Given the description of an element on the screen output the (x, y) to click on. 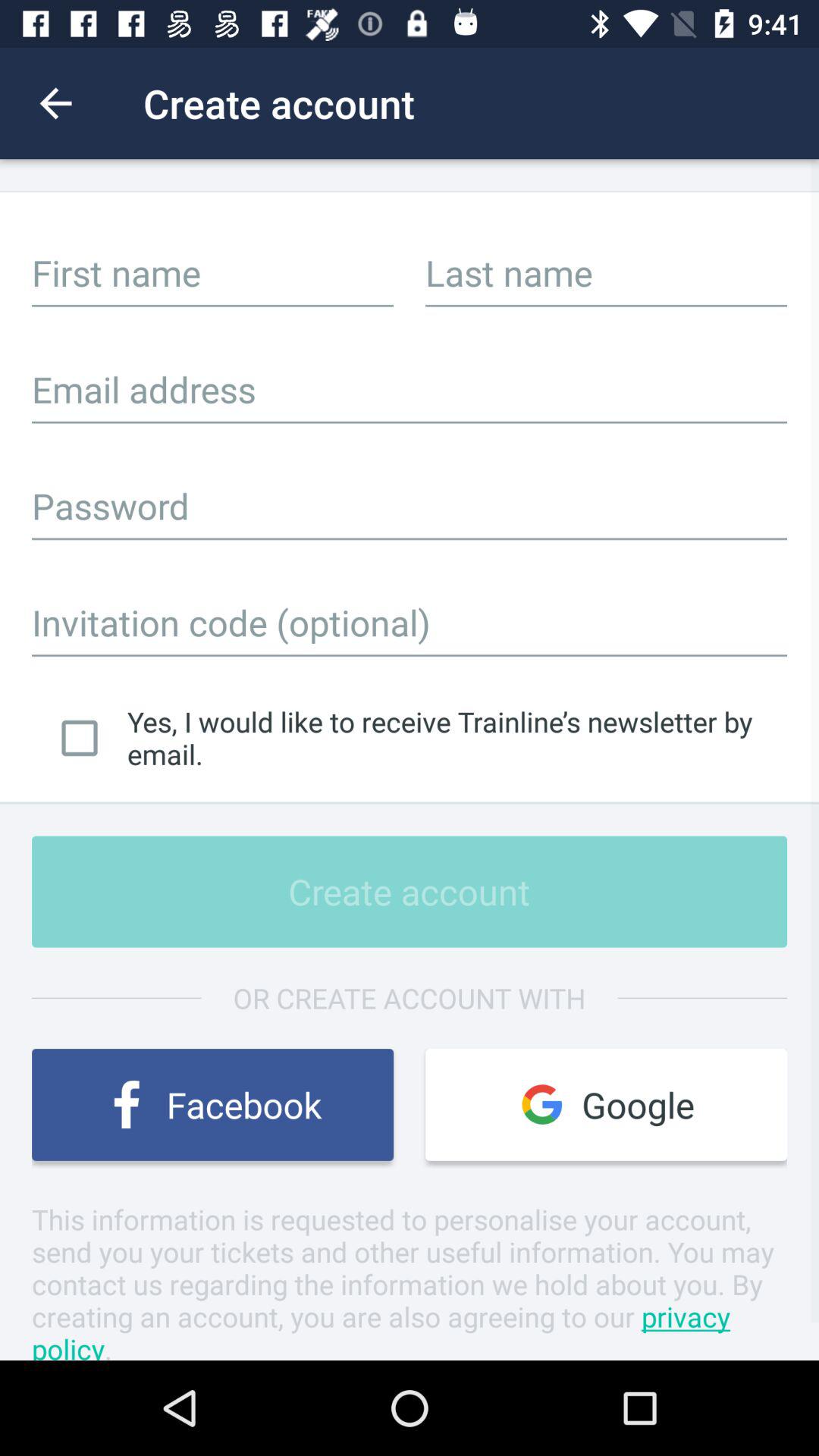
email address entry (409, 389)
